Given the description of an element on the screen output the (x, y) to click on. 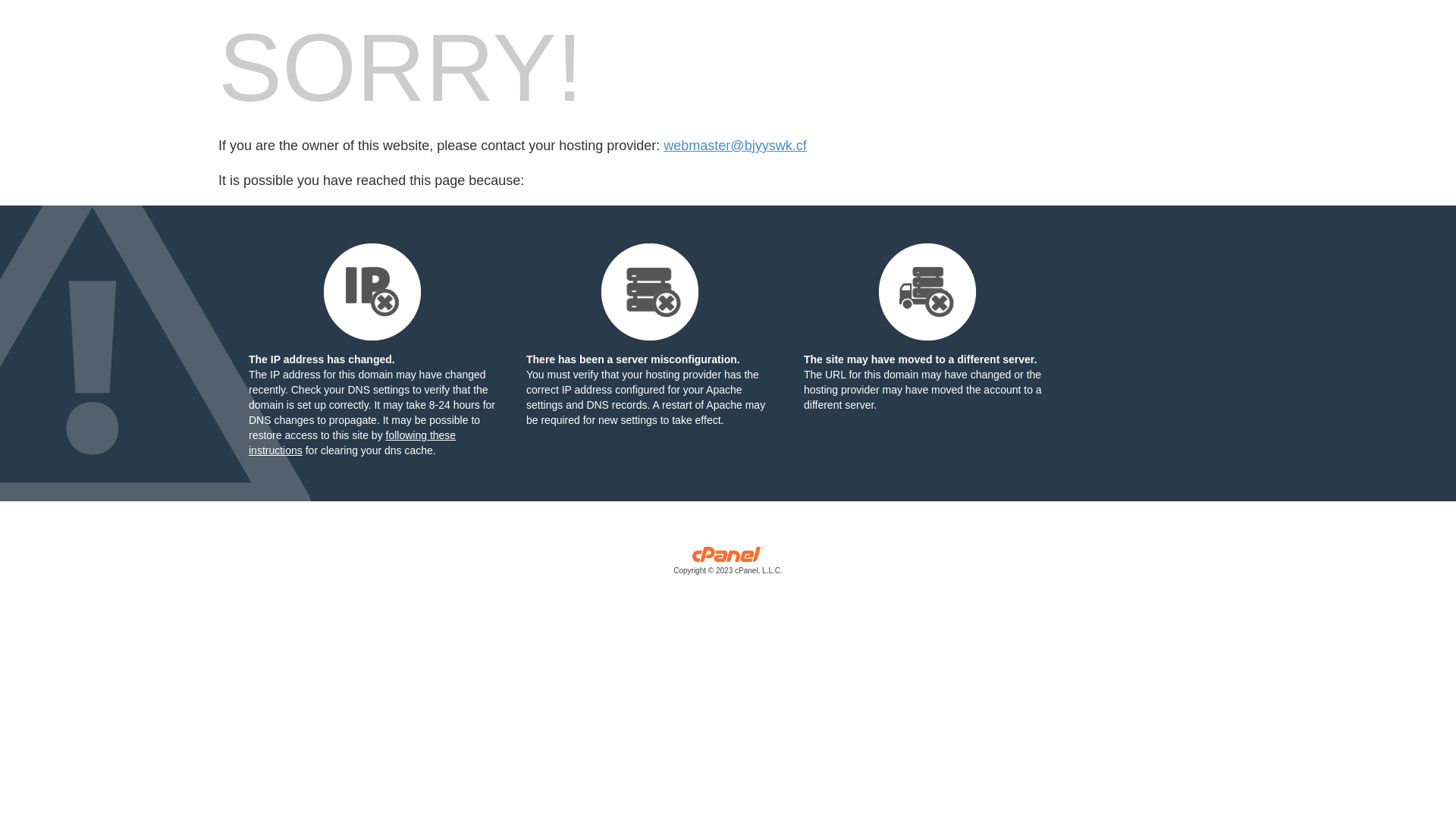
webmaster@bjyyswk.cf Element type: text (734, 145)
following these instructions Element type: text (351, 442)
